Given the description of an element on the screen output the (x, y) to click on. 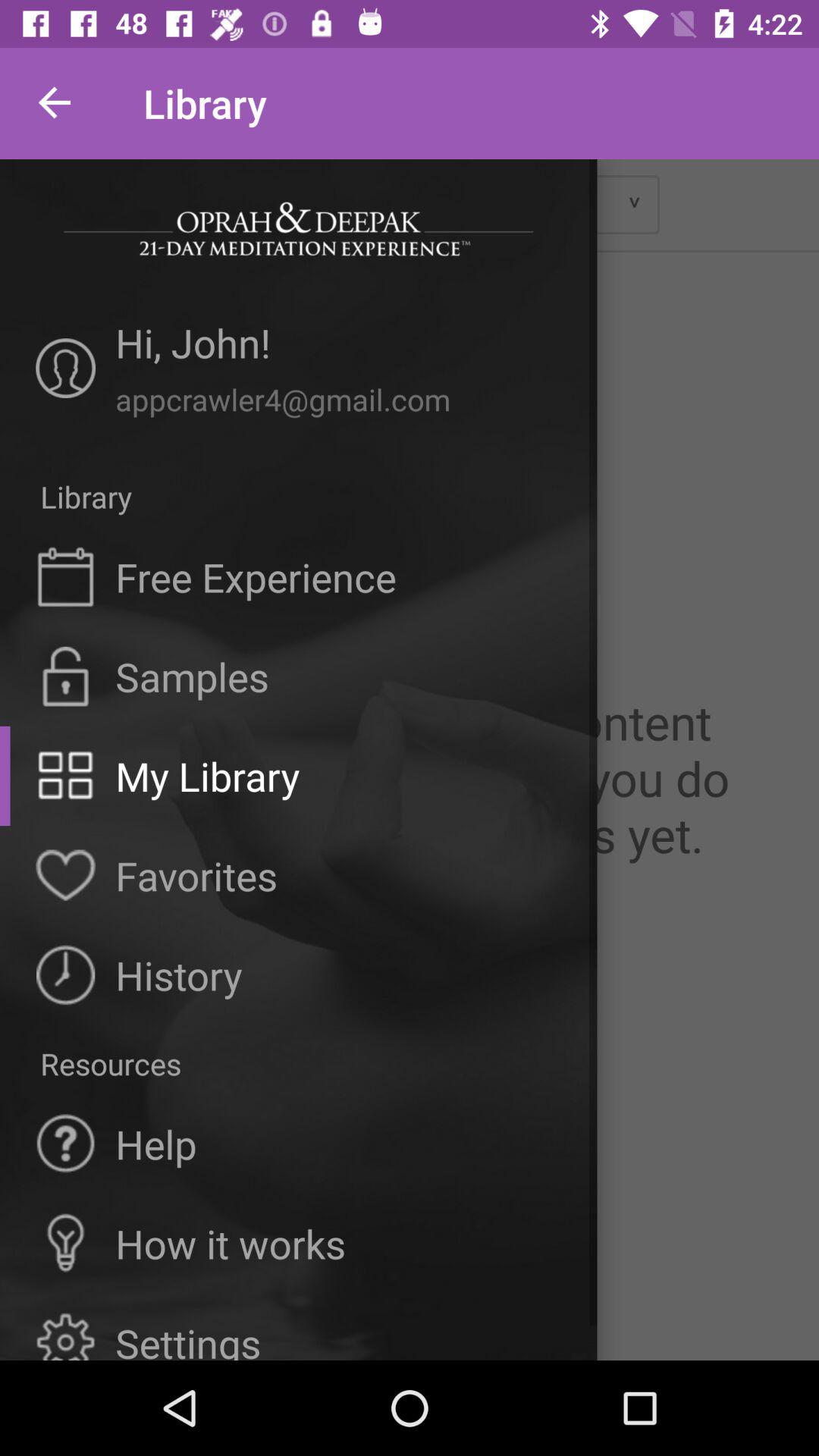
jump to samples (192, 676)
